Given the description of an element on the screen output the (x, y) to click on. 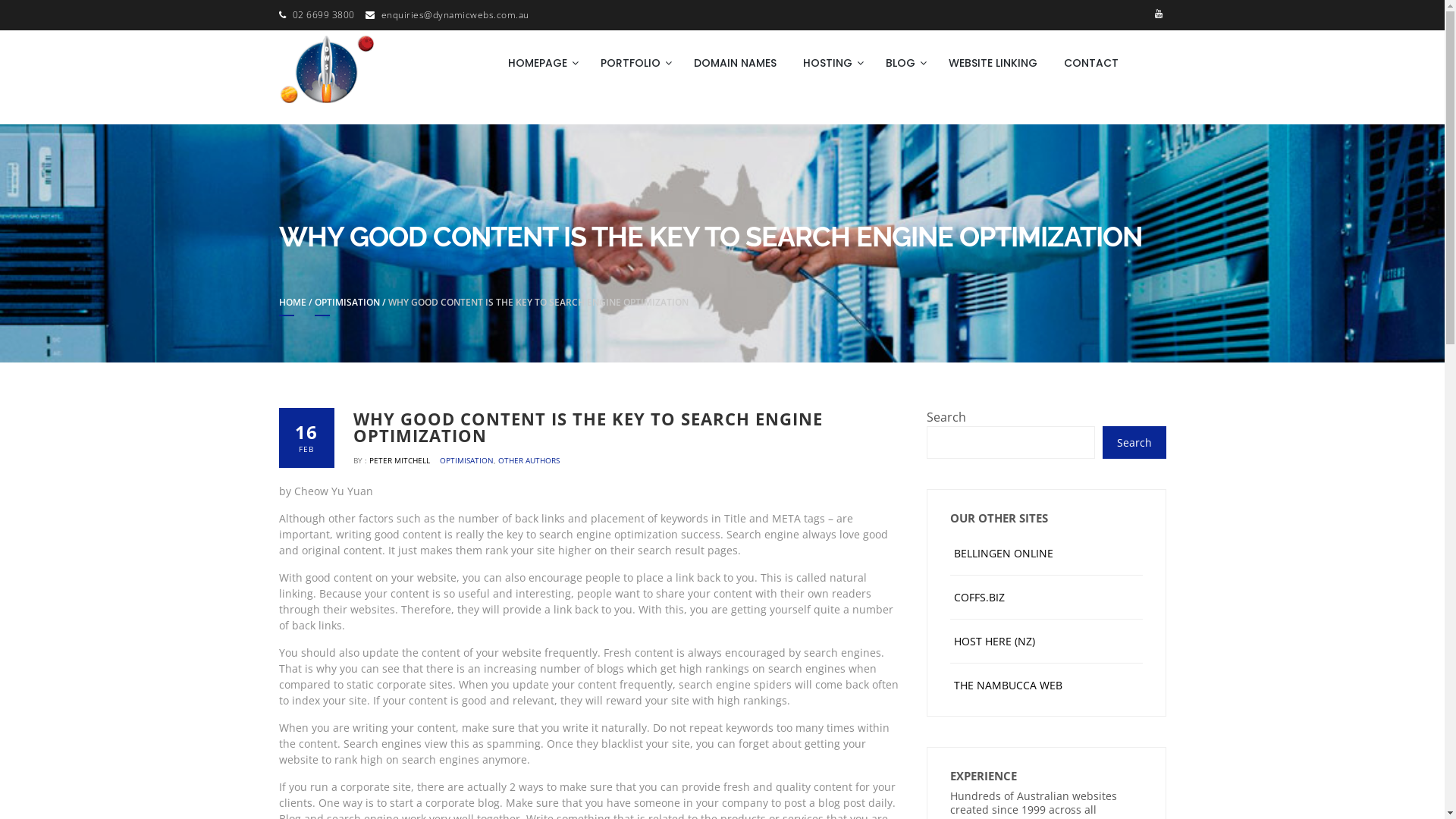
02 6699 3800 Element type: text (323, 14)
THE NAMBUCCA WEB Element type: text (1007, 684)
BELLINGEN ONLINE Element type: text (1003, 553)
CONTACT Element type: text (1091, 62)
PORTFOLIO Element type: text (633, 62)
PETER MITCHELL Element type: text (400, 460)
HOMEPAGE Element type: text (540, 62)
DOMAIN NAMES Element type: text (735, 62)
WEBSITE LINKING Element type: text (993, 62)
OPTIMISATION Element type: text (466, 460)
COFFS.BIZ Element type: text (978, 596)
OPTIMISATION Element type: text (346, 305)
OTHER AUTHORS Element type: text (528, 460)
HOSTING Element type: text (830, 62)
DYNAMIC WEB SOLUTIONS PTY LTD Element type: text (463, 123)
HOME Element type: text (292, 305)
HOST HERE (NZ) Element type: text (994, 640)
BLOG Element type: text (903, 62)
enquiries@dynamicwebs.com.au Element type: text (454, 14)
Search Element type: text (1134, 442)
